Given the description of an element on the screen output the (x, y) to click on. 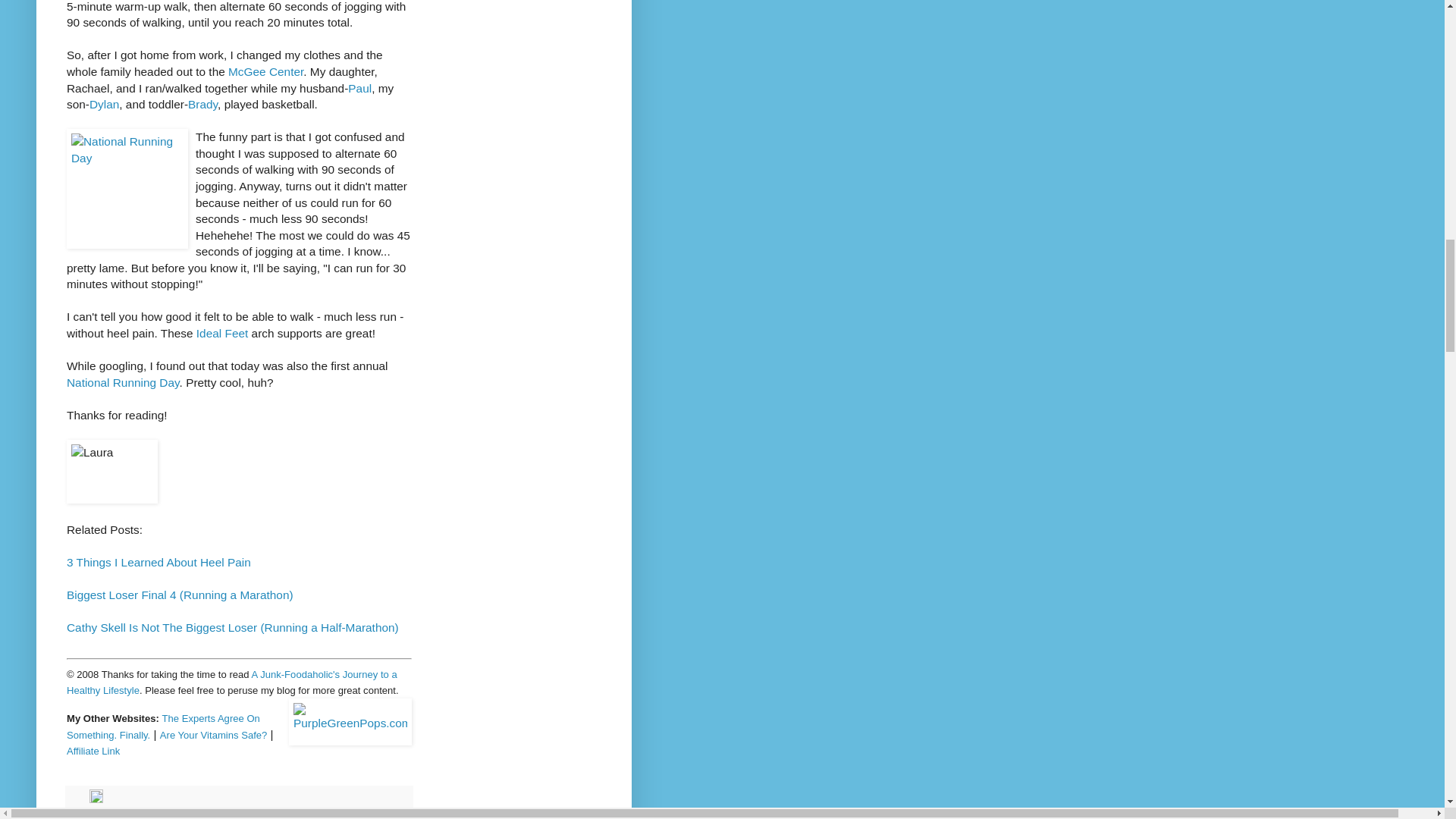
Running: From Thinking About It To Actually Doing It (237, 814)
Are Your Vitamins Safe? (213, 734)
Ideal Feet (221, 332)
National Running Day (122, 382)
Brady (201, 103)
Email Post (80, 799)
Paul (359, 88)
McGee Center (265, 71)
The Experts Agree On Something. Finally. (163, 726)
A Junk-Foodaholic's Journey to a Healthy Lifestyle (231, 681)
3 Things I Learned About Heel Pain (158, 562)
Progress Report (213, 814)
Edit Post (95, 799)
Dylan (103, 103)
Affiliate Link (92, 749)
